Given the description of an element on the screen output the (x, y) to click on. 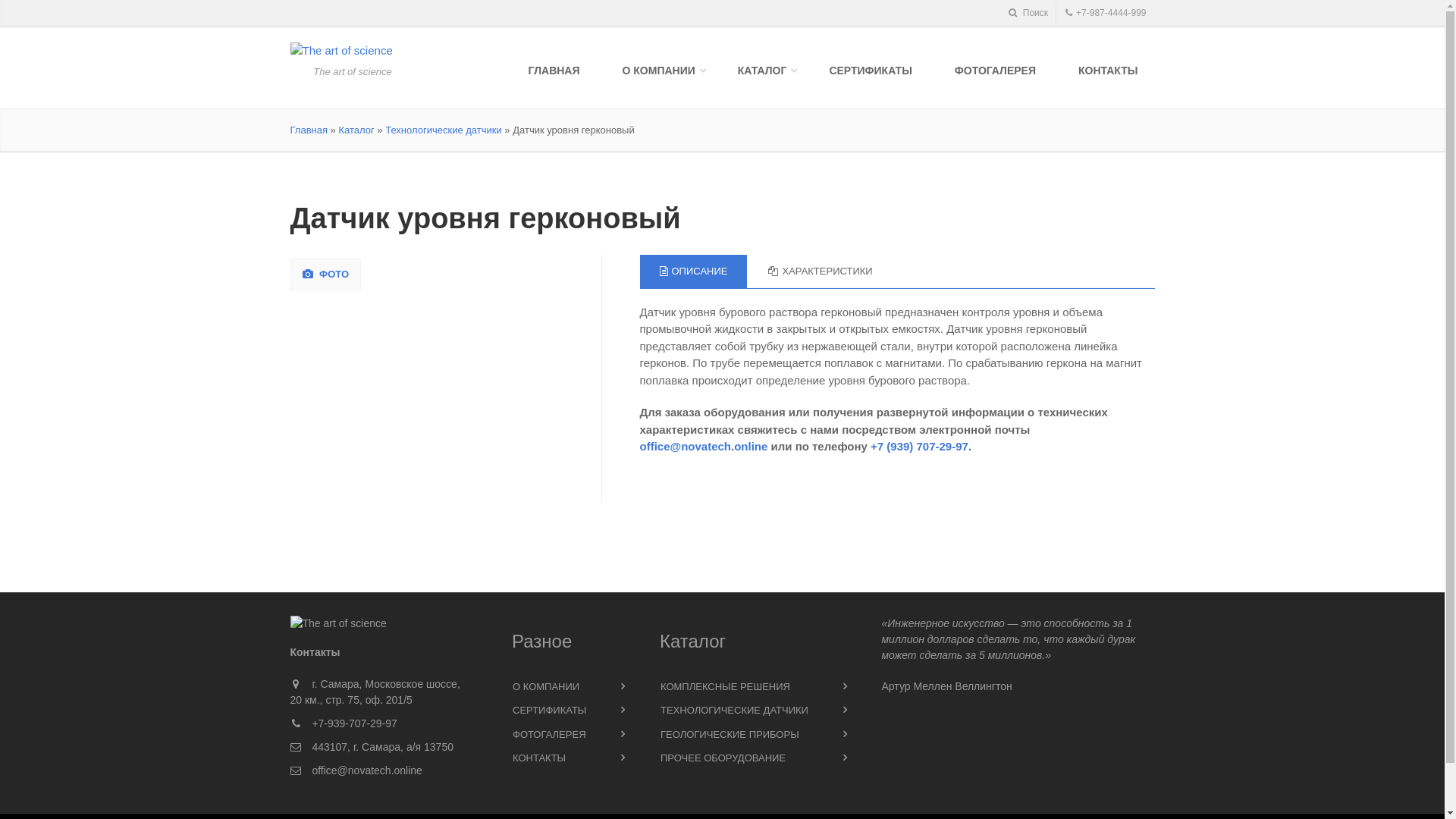
office@novatech.online Element type: text (704, 445)
+7-939-707-29-97 Element type: text (353, 723)
+7 (939) 707-29-97 Element type: text (919, 445)
office@novatech.online Element type: text (366, 770)
+7-987-4444-999 Element type: text (1105, 13)
